Given the description of an element on the screen output the (x, y) to click on. 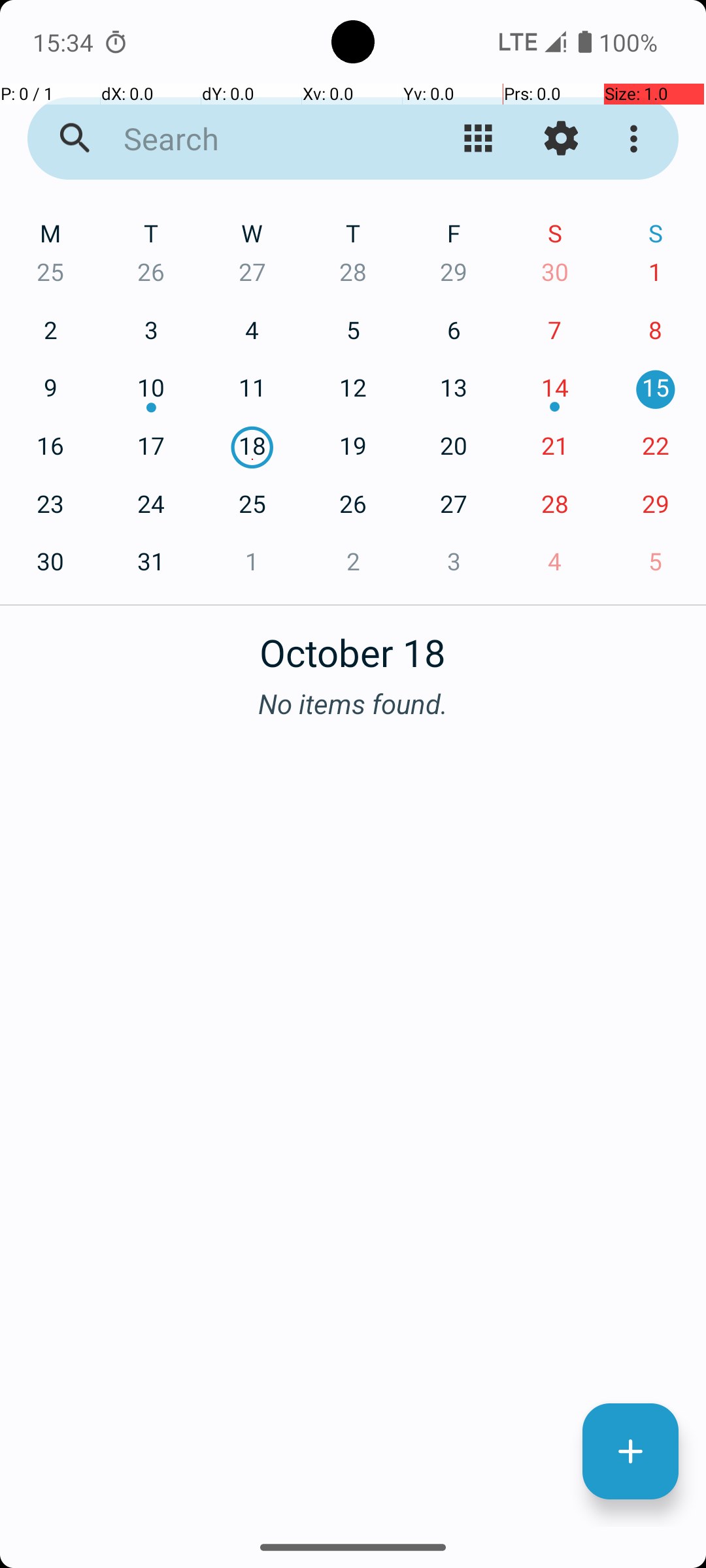
October 18 Element type: android.widget.TextView (352, 644)
